Given the description of an element on the screen output the (x, y) to click on. 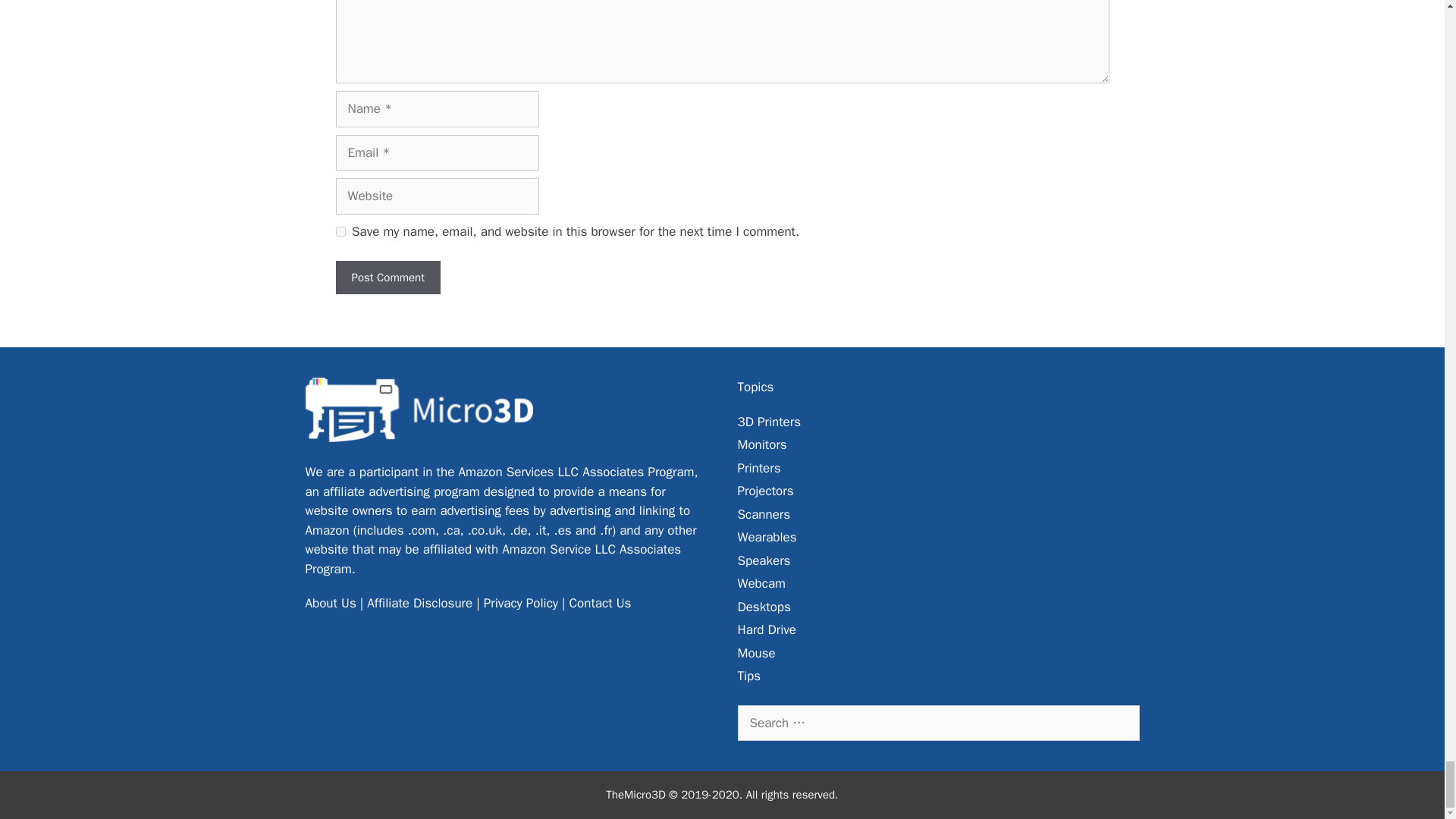
yes (339, 231)
Search for: (937, 723)
Post Comment (386, 277)
